Given the description of an element on the screen output the (x, y) to click on. 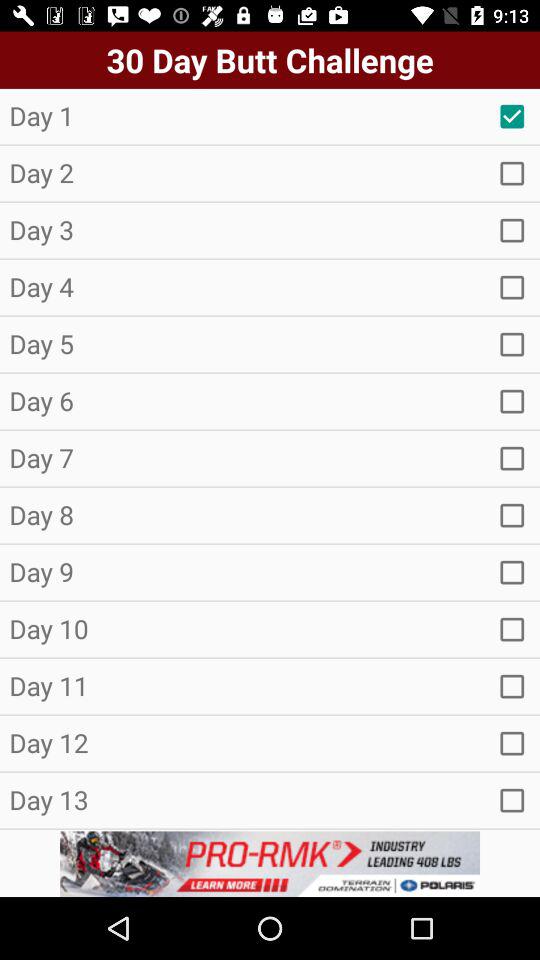
advertisement page (270, 864)
